Given the description of an element on the screen output the (x, y) to click on. 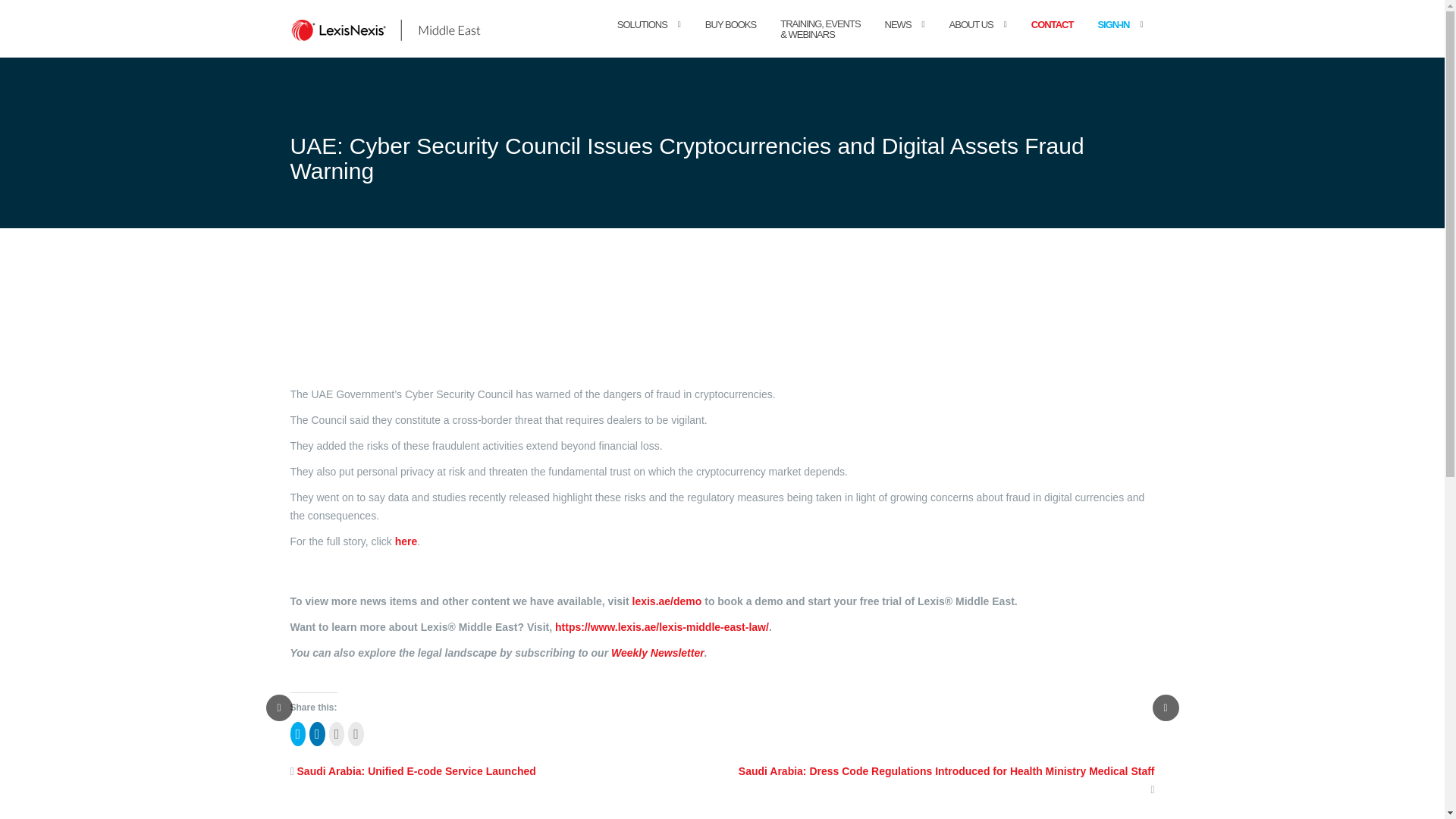
Buy Books (729, 40)
CONTACT (1052, 40)
here (405, 541)
Solutions (641, 40)
SOLUTIONS (641, 40)
Weekly Newsletter (657, 653)
ABOUT US (970, 40)
BUY BOOKS (729, 40)
